Given the description of an element on the screen output the (x, y) to click on. 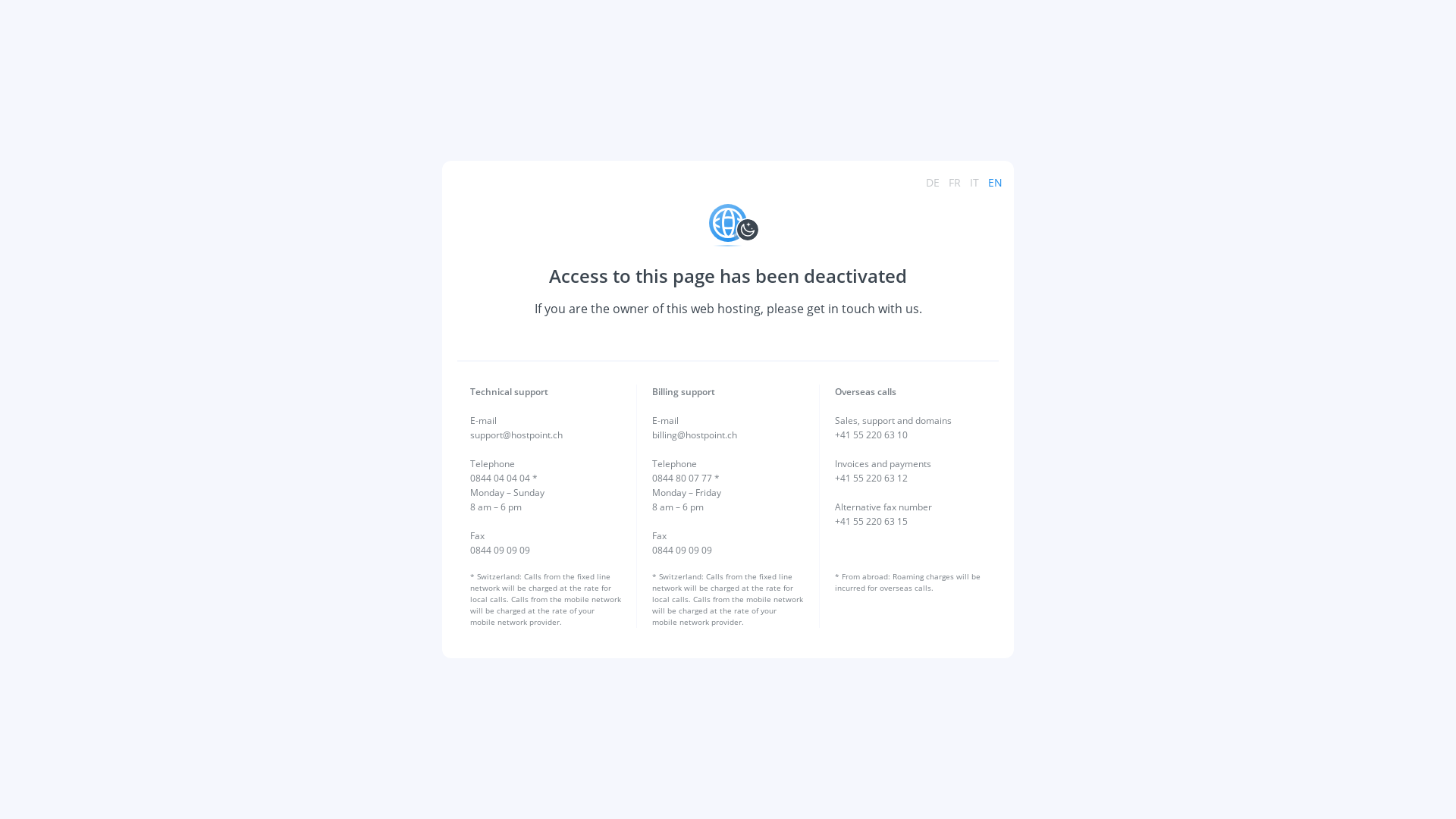
support@hostpoint.ch Element type: text (516, 434)
billing@hostpoint.ch Element type: text (694, 434)
